Given the description of an element on the screen output the (x, y) to click on. 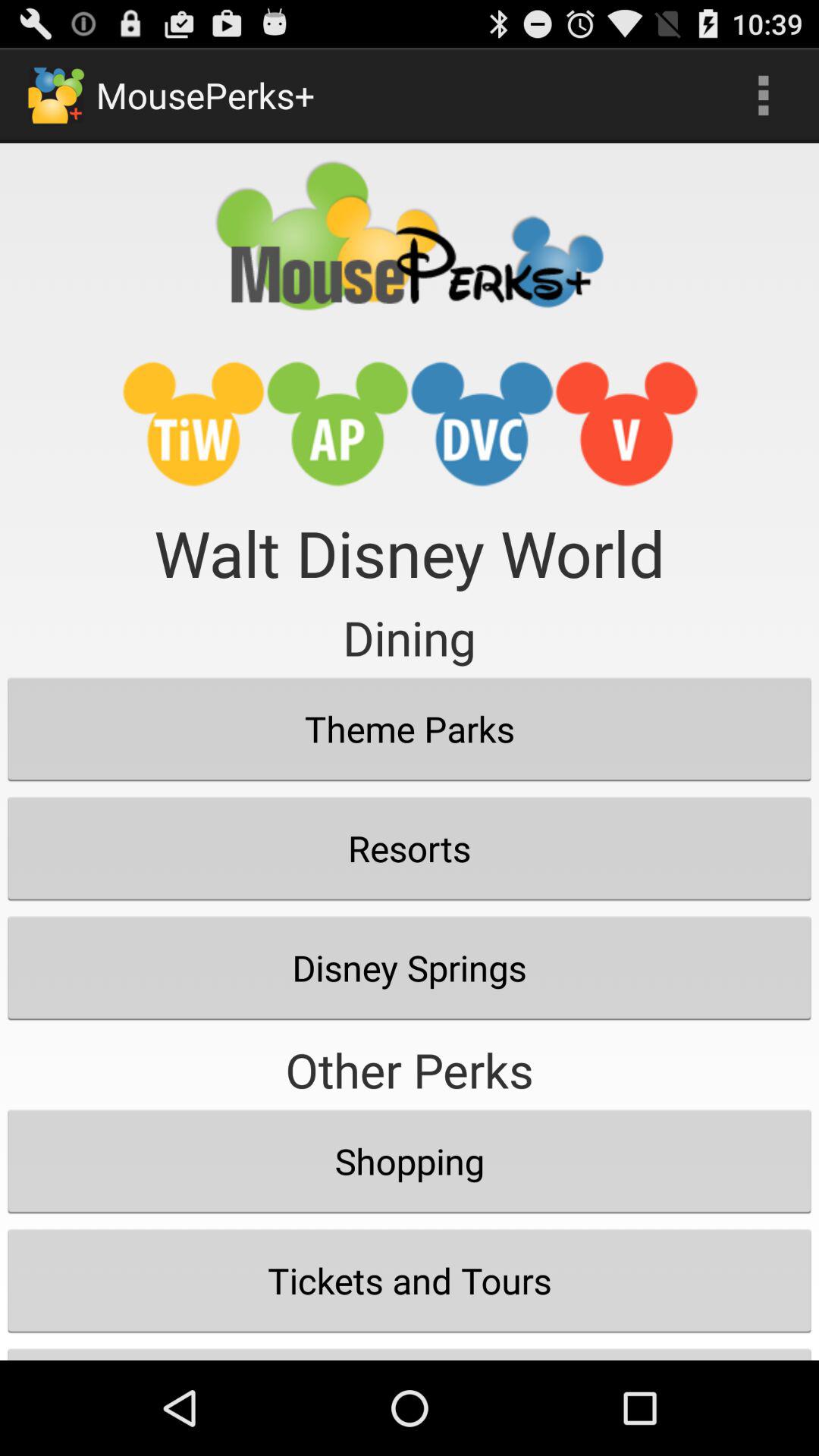
tap disney springs icon (409, 967)
